Given the description of an element on the screen output the (x, y) to click on. 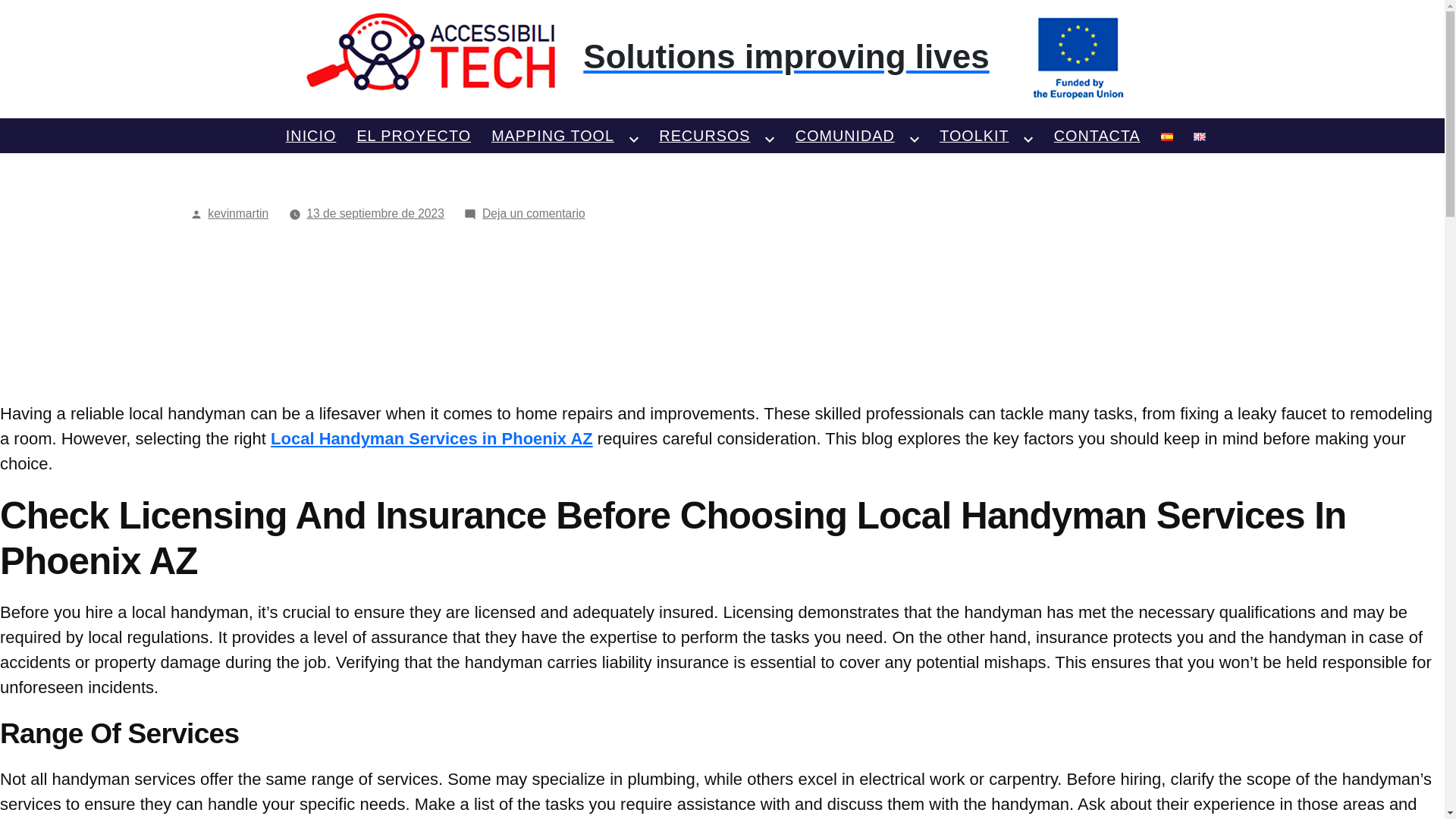
kevinmartin (237, 213)
Local Handyman Services in Phoenix AZ (431, 438)
INICIO (310, 134)
Imagen de cabecera (721, 56)
CONTACTA (1096, 134)
EL PROYECTO (413, 134)
RECURSOS (704, 134)
COMUNIDAD (844, 134)
TOOLKIT (973, 134)
